Given the description of an element on the screen output the (x, y) to click on. 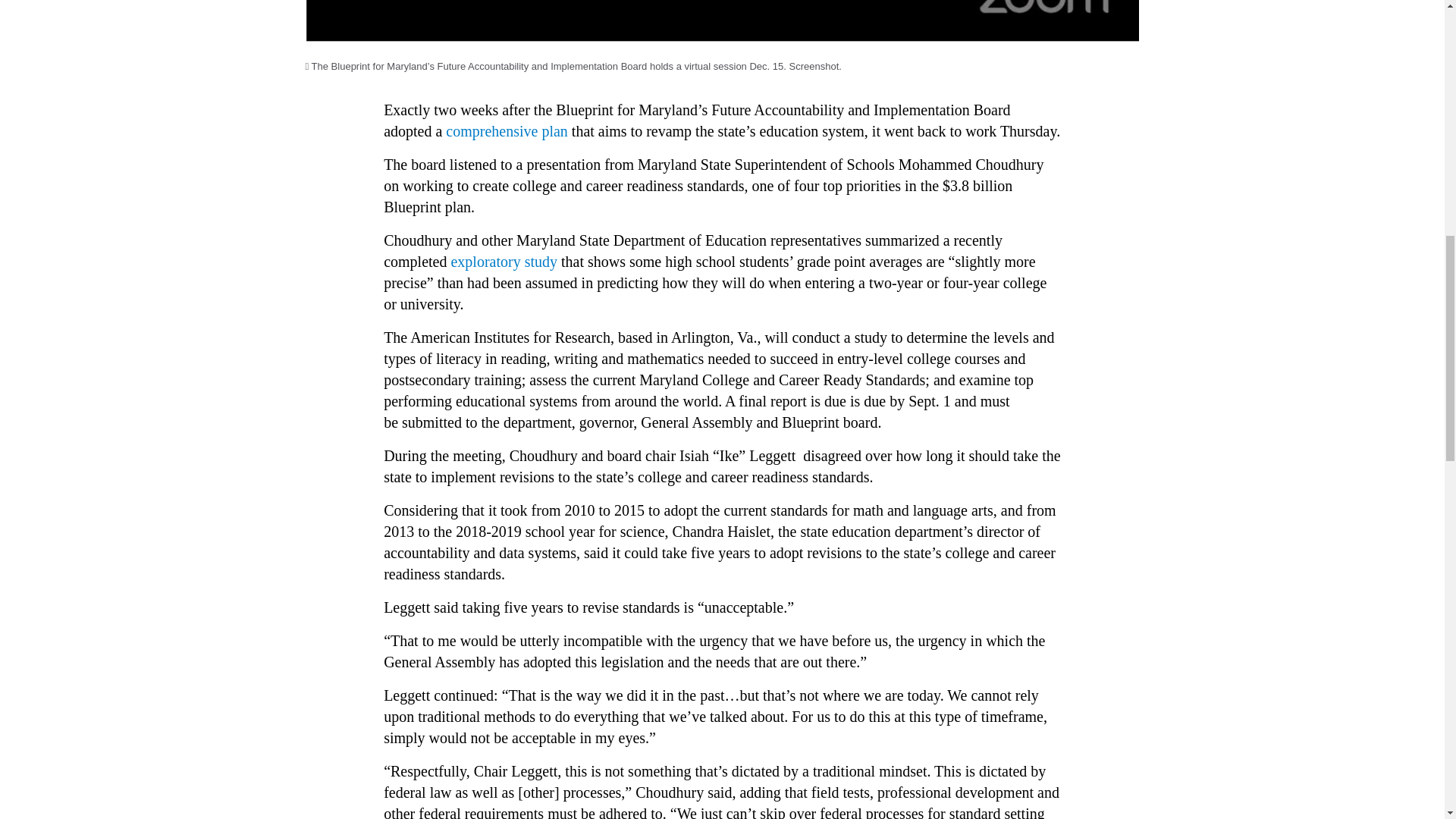
comprehensive plan (506, 130)
exploratory study (503, 261)
